Given the description of an element on the screen output the (x, y) to click on. 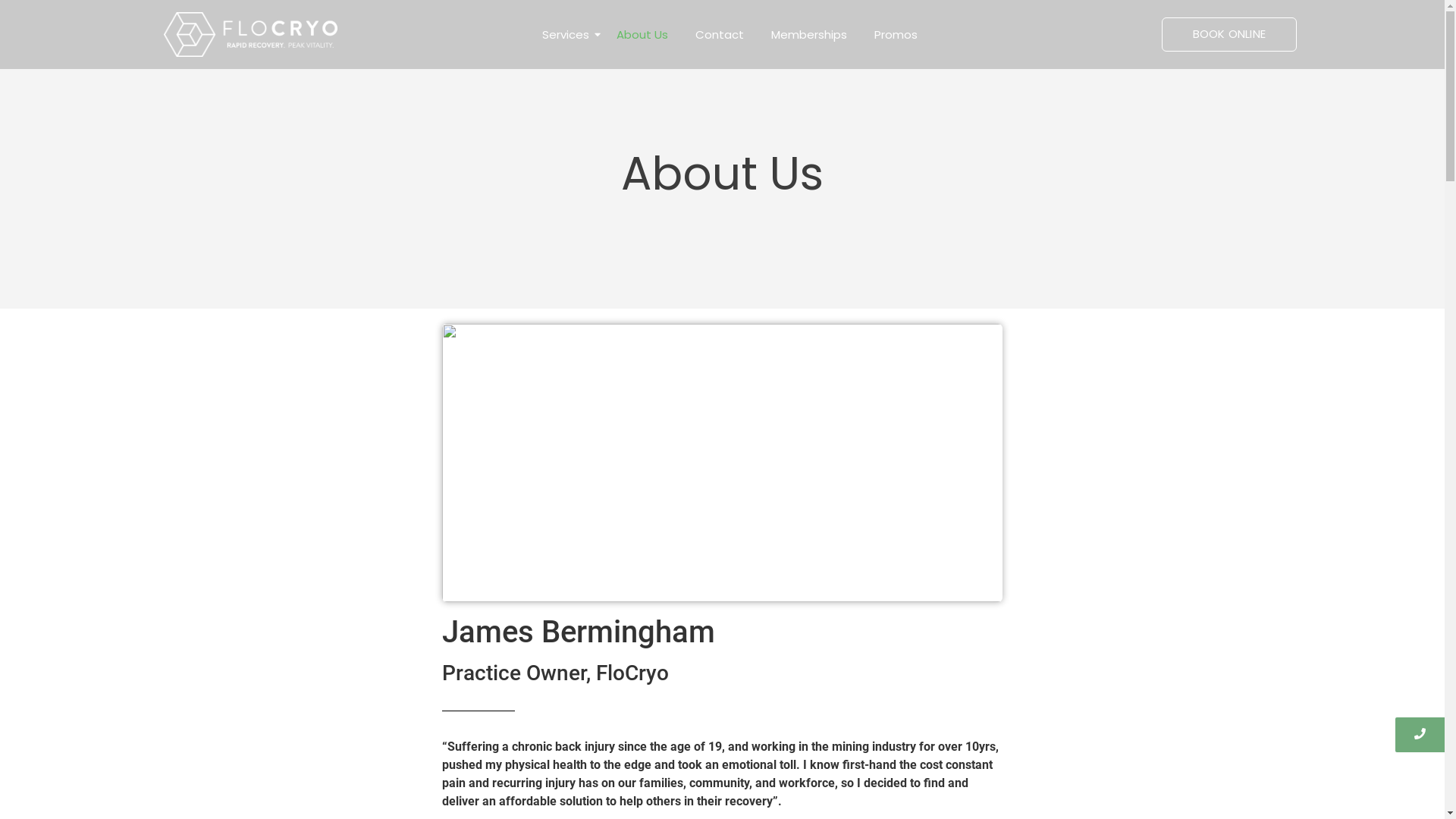
BOOK ONLINE Element type: text (1228, 34)
Contact Element type: text (719, 34)
Services Element type: text (565, 34)
Memberships Element type: text (809, 34)
Promos Element type: text (895, 34)
About Us Element type: text (642, 34)
